Given the description of an element on the screen output the (x, y) to click on. 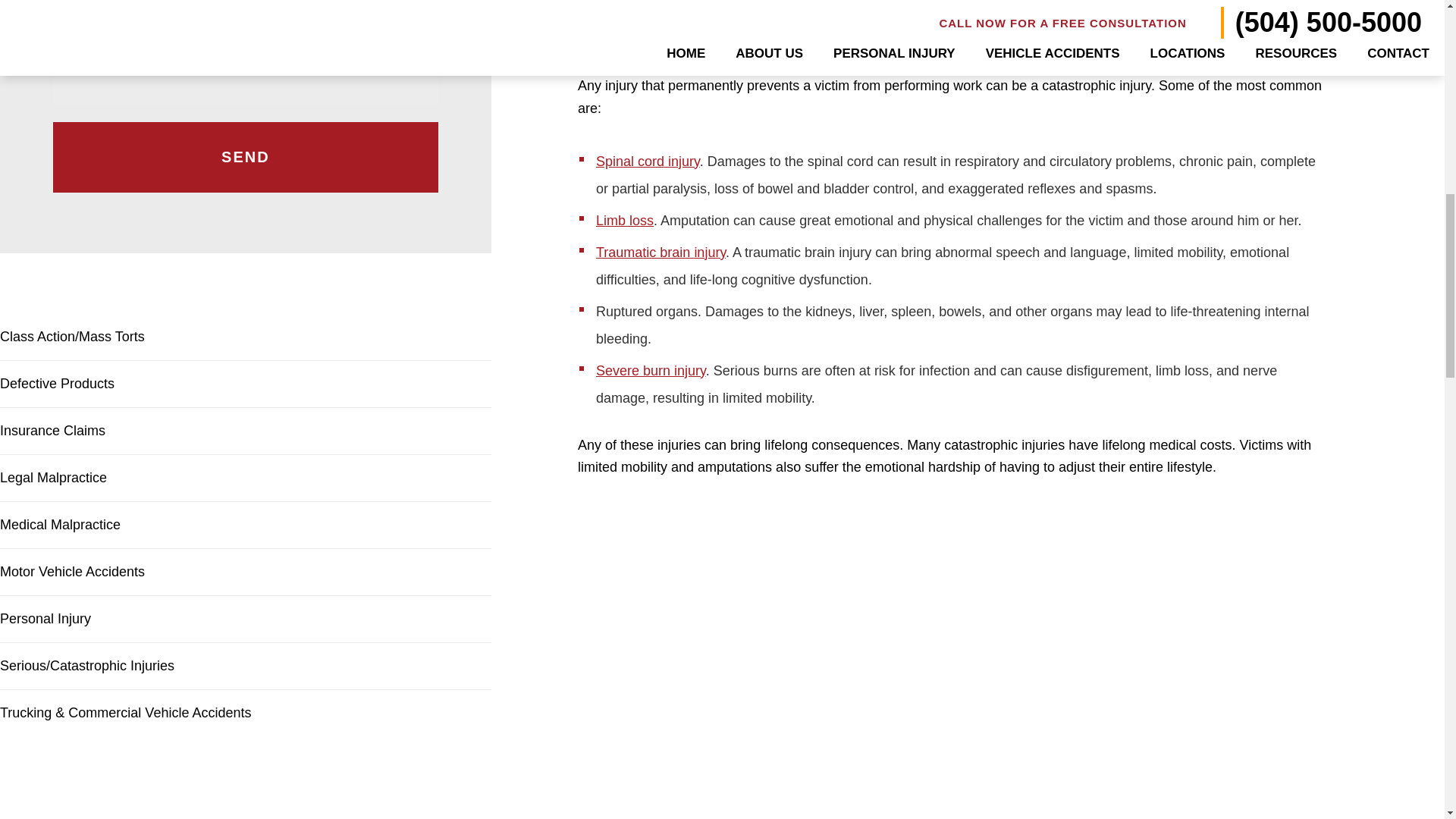
Severe burn injury (650, 370)
Traumatic brain injury (660, 252)
Limb loss (624, 220)
Spinal cord injury (647, 160)
Send (245, 157)
